Given the description of an element on the screen output the (x, y) to click on. 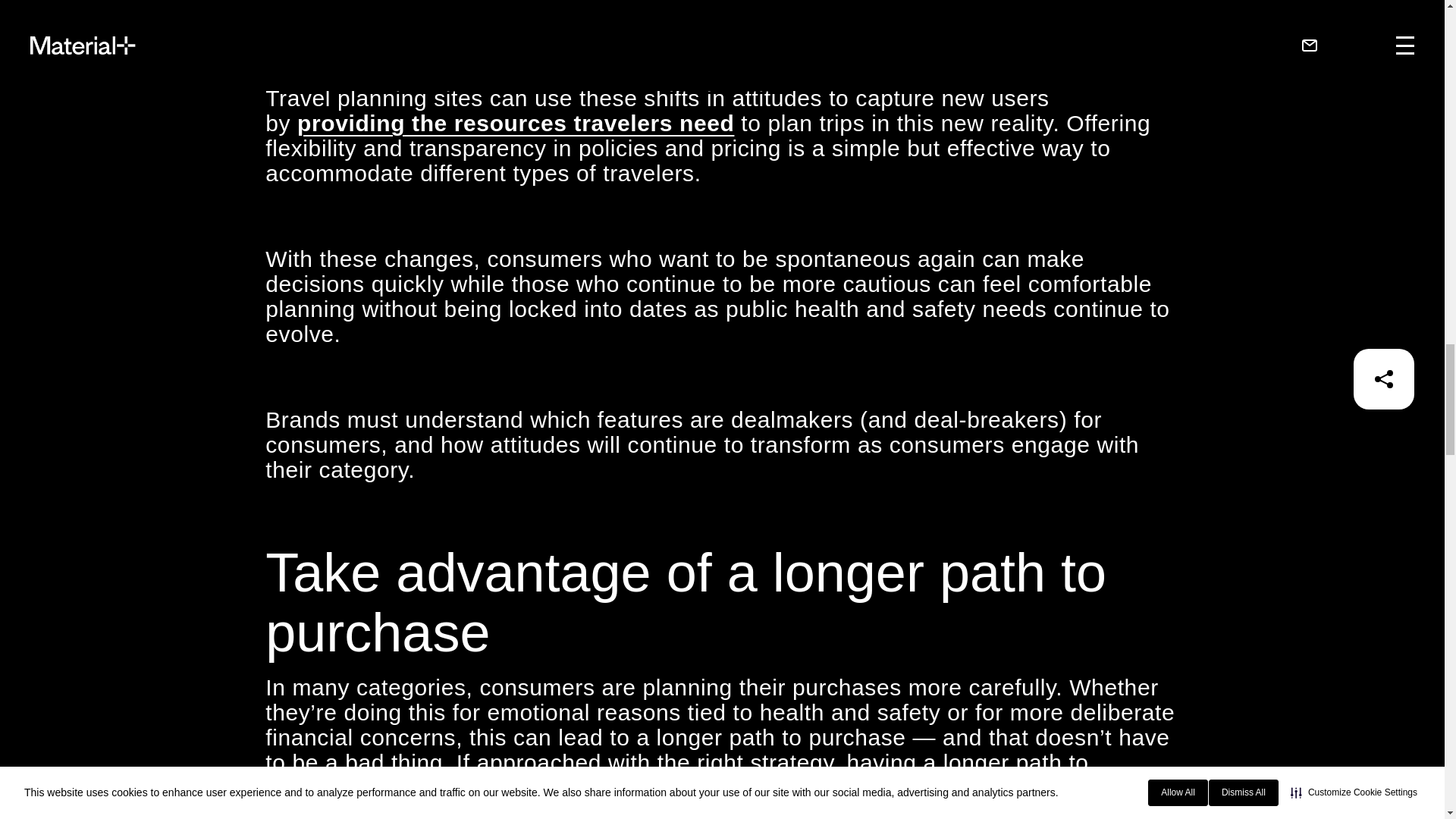
opportunities to connect meaningfully (823, 787)
providing the resources travelers need (515, 122)
